Given the description of an element on the screen output the (x, y) to click on. 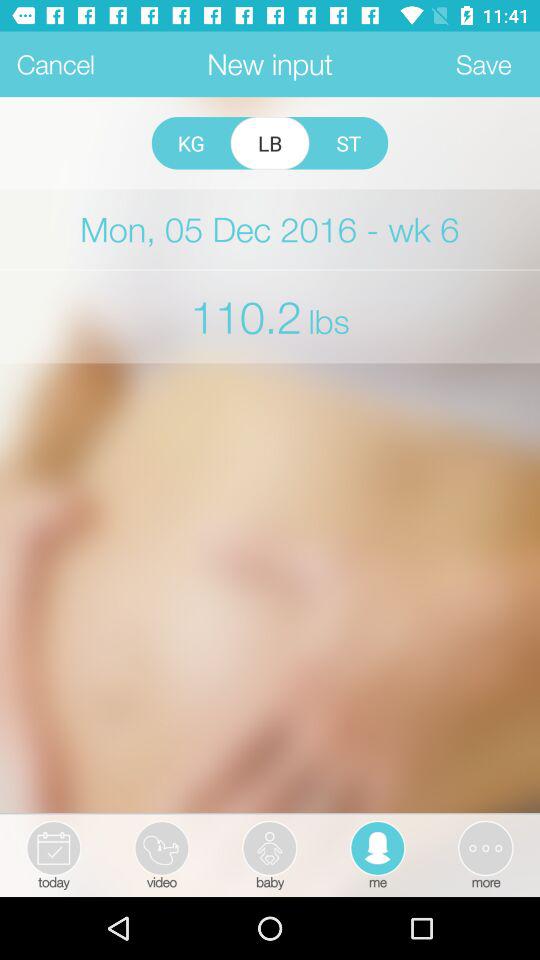
tap the kg icon (190, 143)
